Given the description of an element on the screen output the (x, y) to click on. 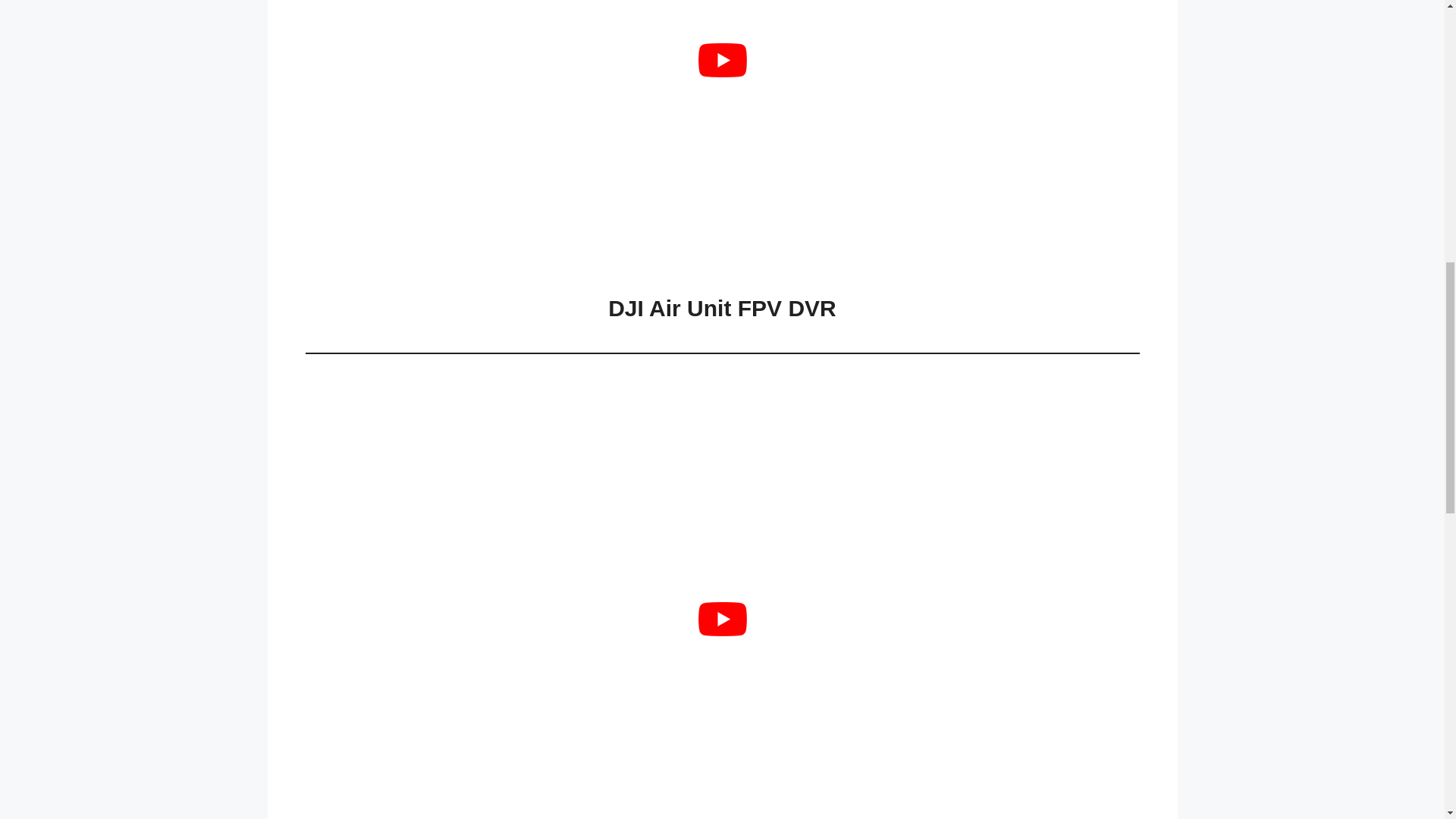
Scroll back to top (1406, 720)
